Given the description of an element on the screen output the (x, y) to click on. 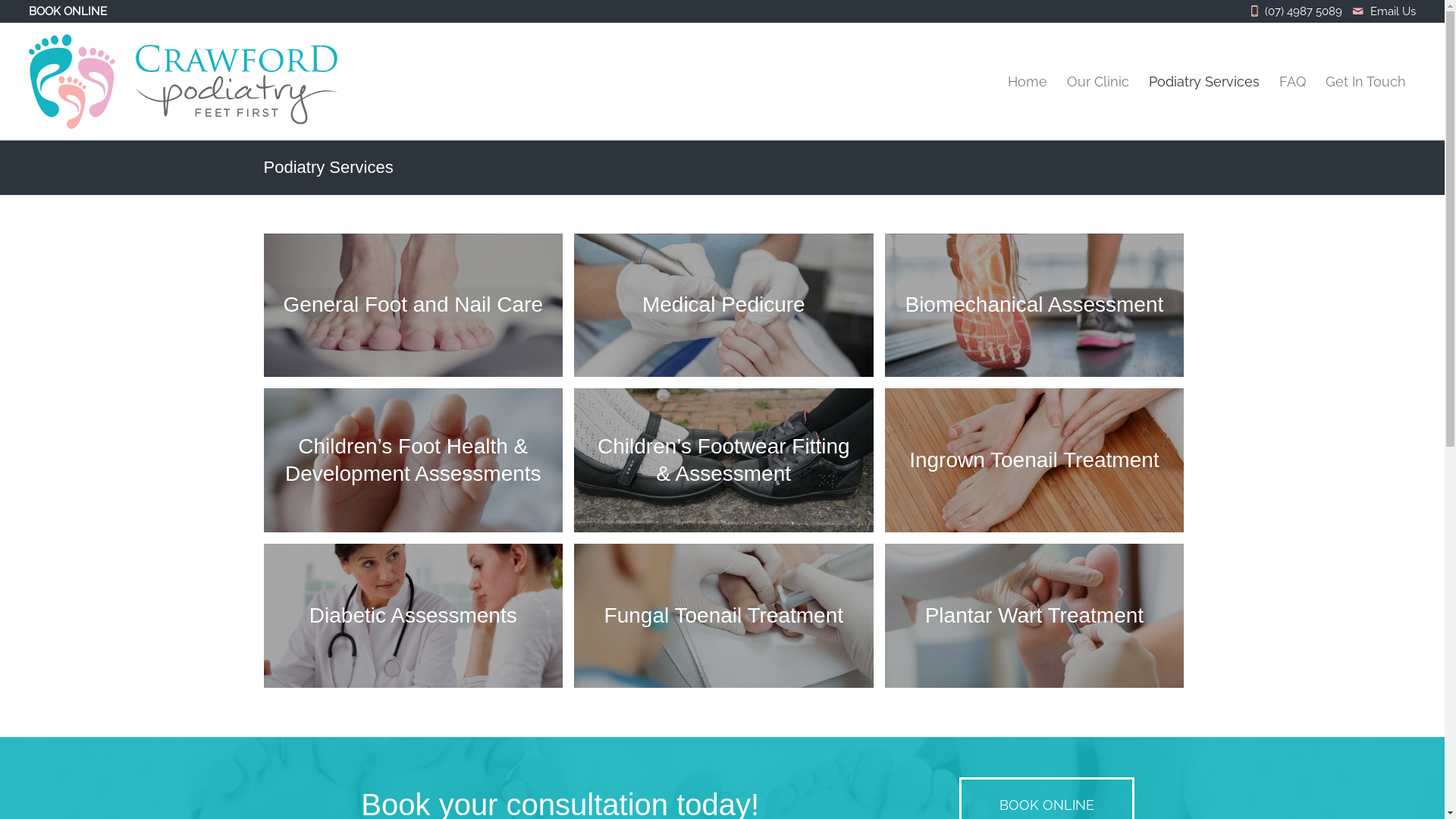
Get In Touch Element type: text (1365, 81)
FAQ Element type: text (1292, 81)
ph5 Element type: hover (413, 615)
ph4 Element type: hover (723, 615)
Podiatry Services Element type: text (328, 166)
ph8 Element type: hover (413, 460)
Our Clinic Element type: text (1098, 81)
Fungal Toenail Treatment Element type: text (729, 621)
crawford-logo Element type: hover (182, 81)
Podiatry Services Element type: text (1204, 81)
ph6 Element type: hover (1034, 460)
ph9 Element type: hover (1034, 305)
Diabetic Assessments Element type: text (418, 621)
ph7 Element type: hover (723, 460)
ph10 Element type: hover (723, 305)
ph2 Element type: hover (413, 305)
Plantar Wart Treatment Element type: text (1039, 621)
Email Us Element type: text (1392, 11)
Home Element type: text (1027, 81)
Medical Pedicure Element type: text (729, 311)
General Foot and Nail Care Element type: text (418, 311)
(07) 4987 5089 Element type: text (1306, 11)
Biomechanical Assessment Element type: text (1039, 311)
Ingrown Toenail Treatment Element type: text (1039, 465)
ph3 Element type: hover (1034, 615)
